Given the description of an element on the screen output the (x, y) to click on. 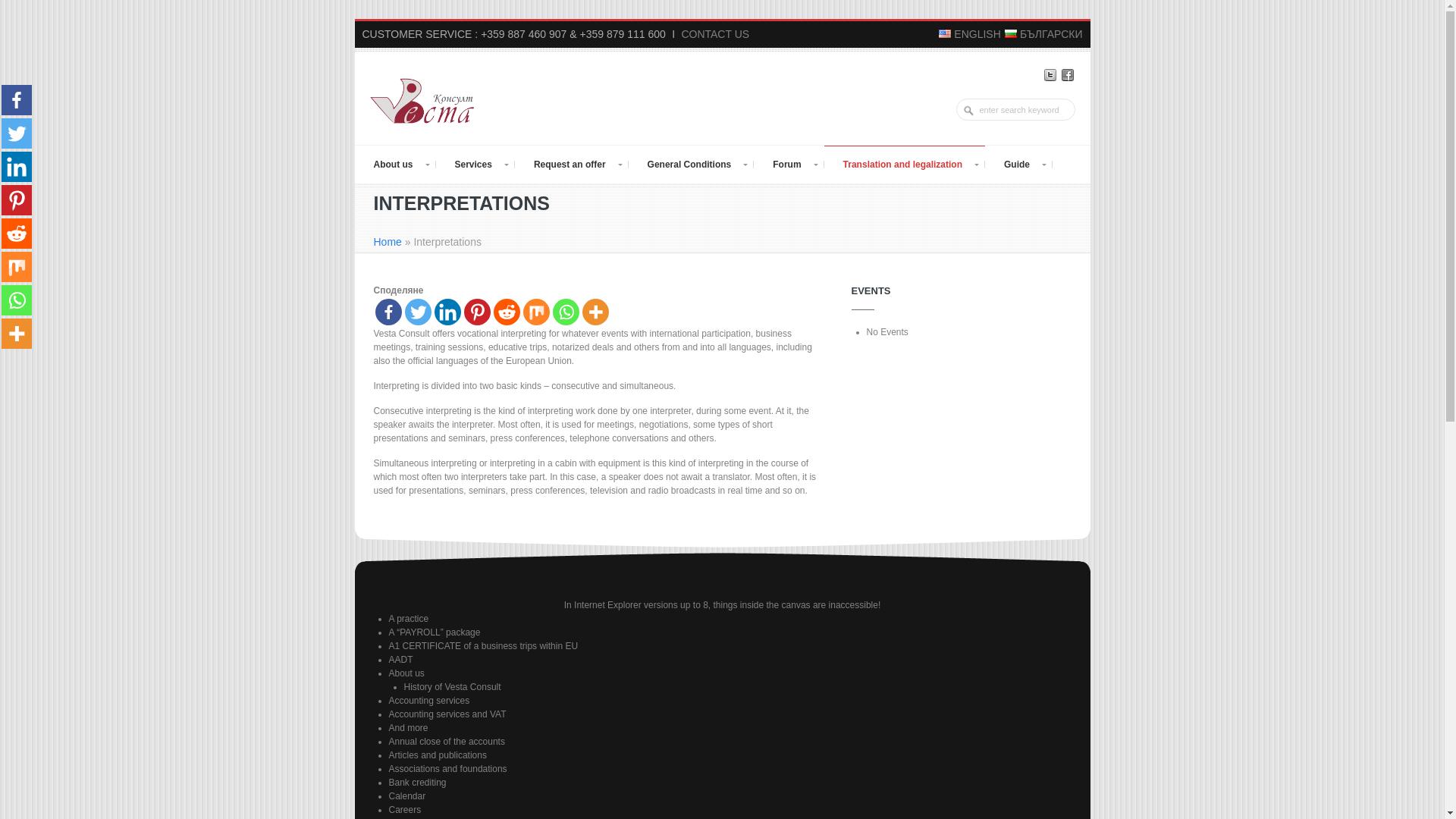
Twitter (16, 132)
search (970, 110)
search (970, 110)
Twitter (1050, 74)
Reddit (506, 311)
More (595, 311)
Linkedin (446, 311)
Twitter (417, 311)
facebook (1066, 74)
Linkedin (16, 166)
ENGLISH (970, 33)
Mix (536, 311)
CONTACT US (715, 33)
enter search keyword (1014, 109)
Services (474, 163)
